Given the description of an element on the screen output the (x, y) to click on. 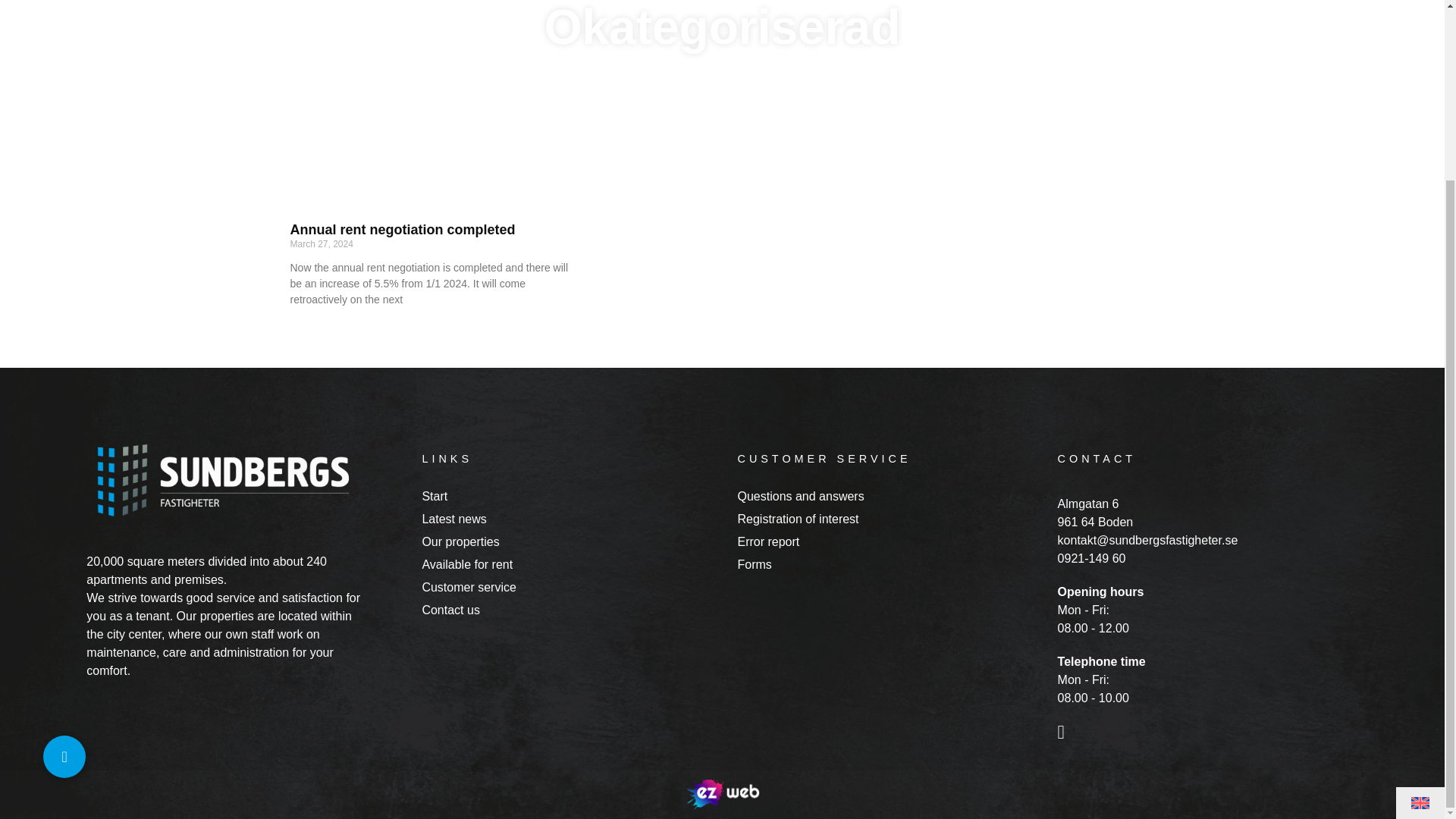
Our properties (572, 539)
Available for rent (572, 562)
Contact us (572, 608)
0921-149 60 (1204, 558)
Latest news (572, 517)
Forms (887, 562)
Customer service (572, 585)
Registration of interest (887, 517)
Annual rent negotiation completed (402, 229)
Error report (887, 539)
Questions and answers (887, 494)
Start (572, 494)
Read more (311, 325)
